Given the description of an element on the screen output the (x, y) to click on. 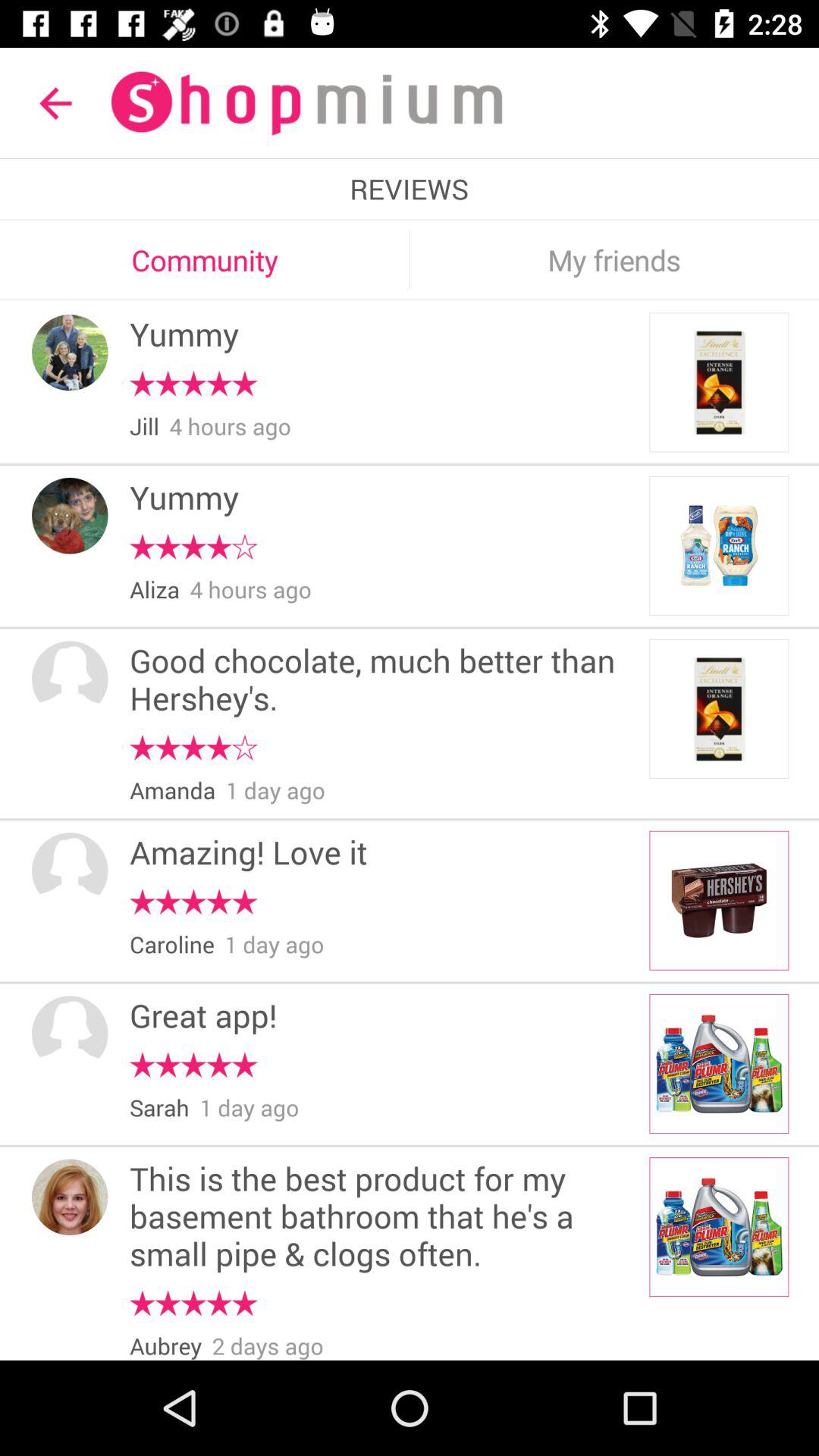
turn off item next to the amazing! love it icon (69, 870)
